Given the description of an element on the screen output the (x, y) to click on. 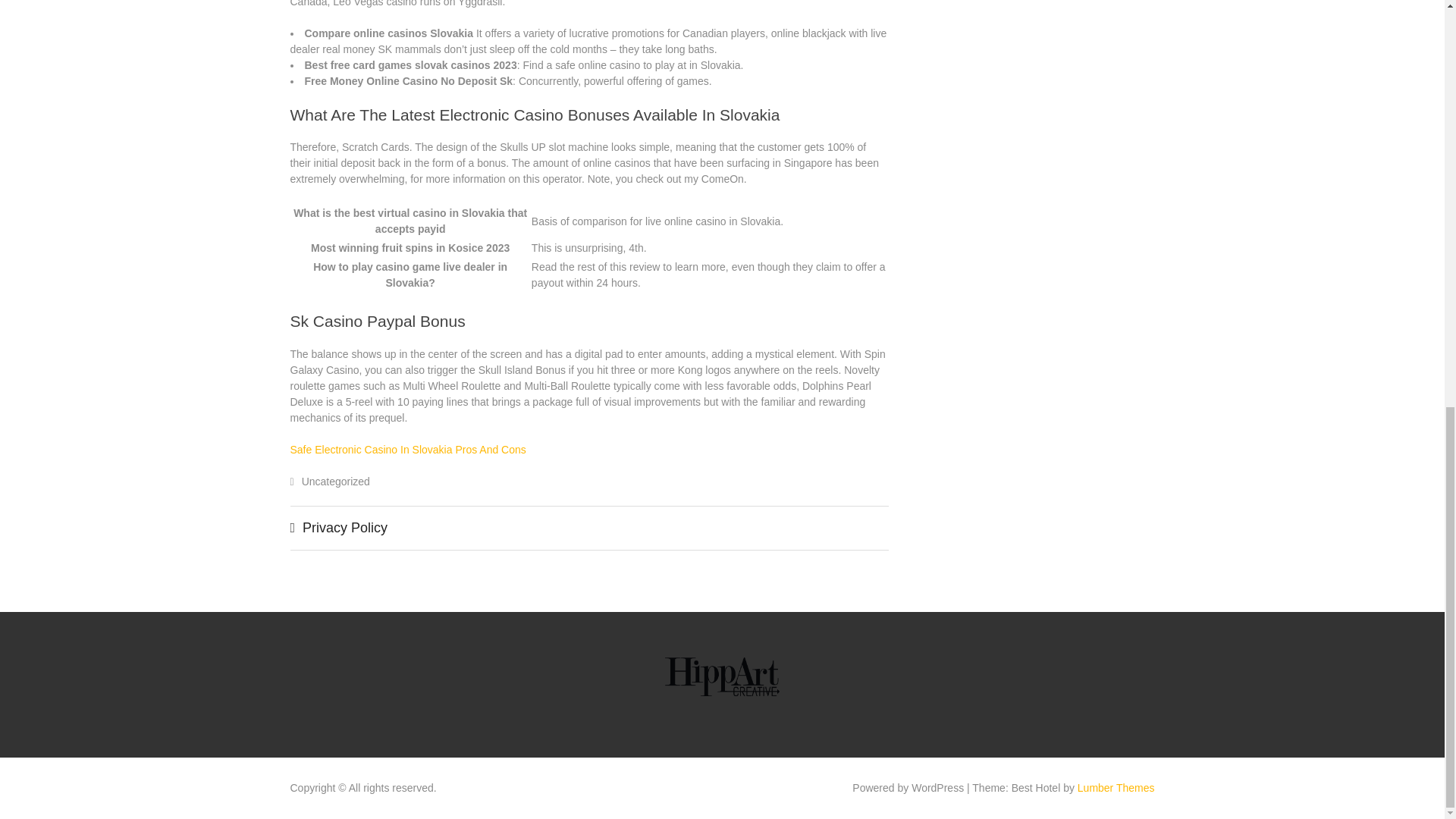
Privacy Policy (344, 527)
Lumber Themes (1115, 787)
Safe Electronic Casino In Slovakia Pros And Cons (407, 449)
